Given the description of an element on the screen output the (x, y) to click on. 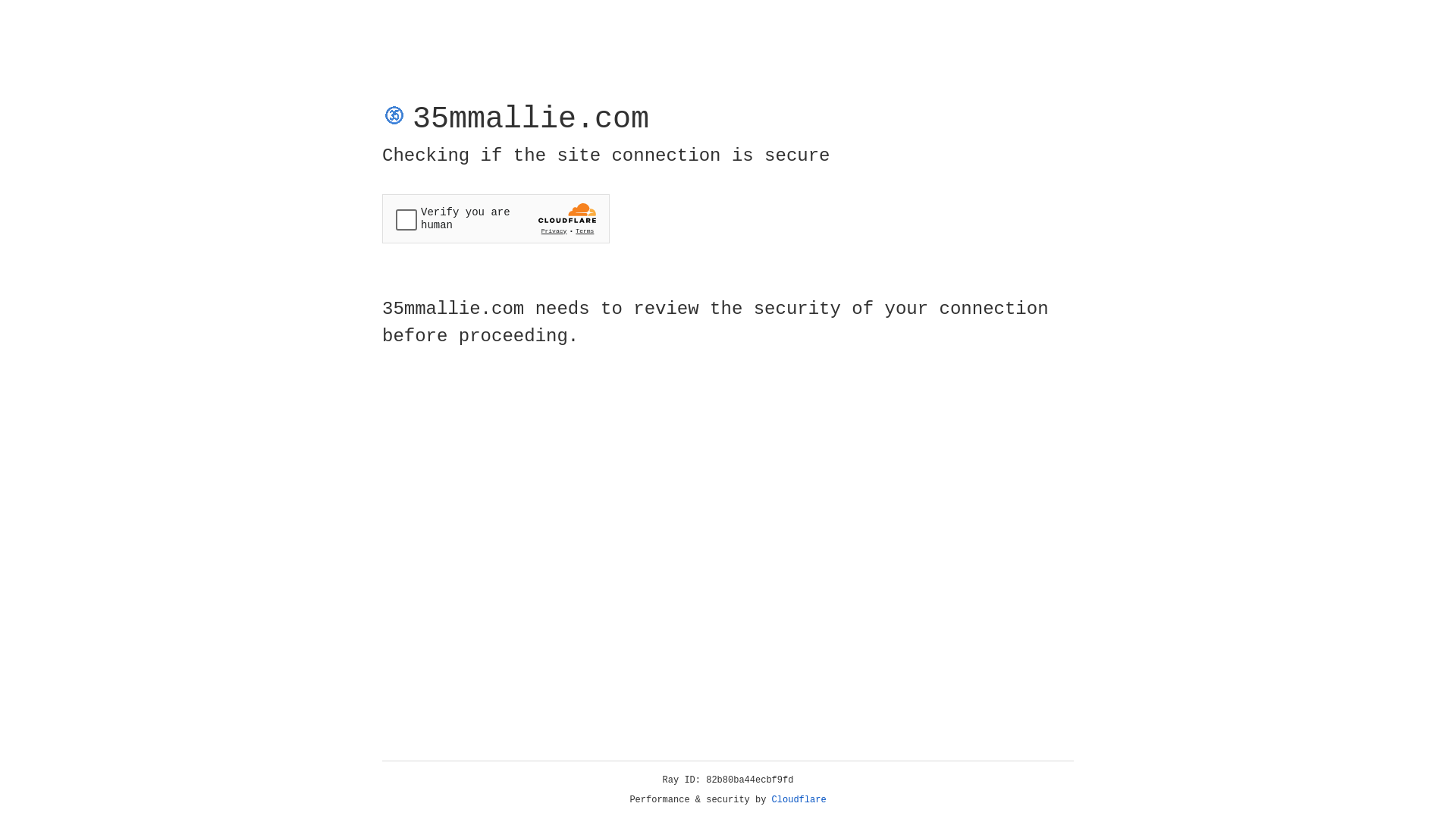
Cloudflare Element type: text (798, 799)
Widget containing a Cloudflare security challenge Element type: hover (495, 218)
